Given the description of an element on the screen output the (x, y) to click on. 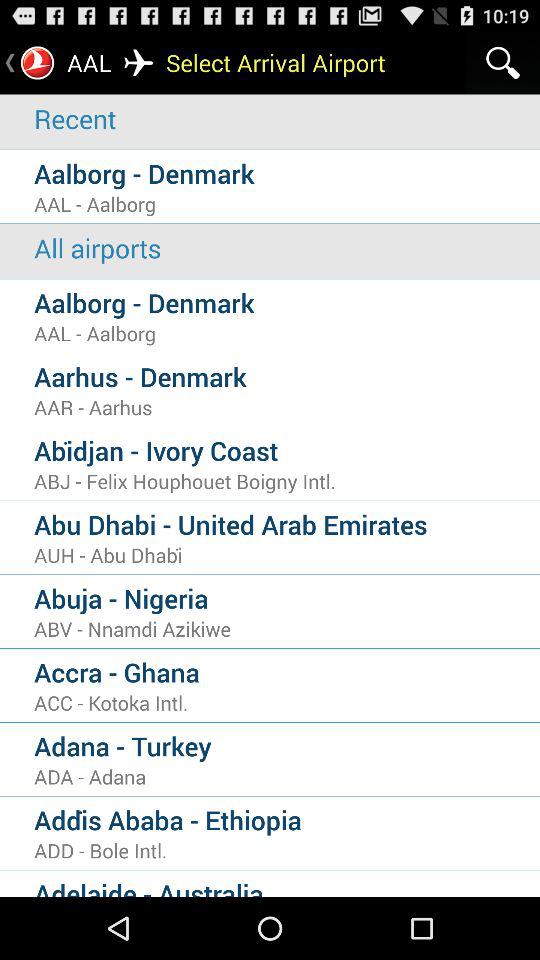
turn on add - bole intl. (287, 850)
